Given the description of an element on the screen output the (x, y) to click on. 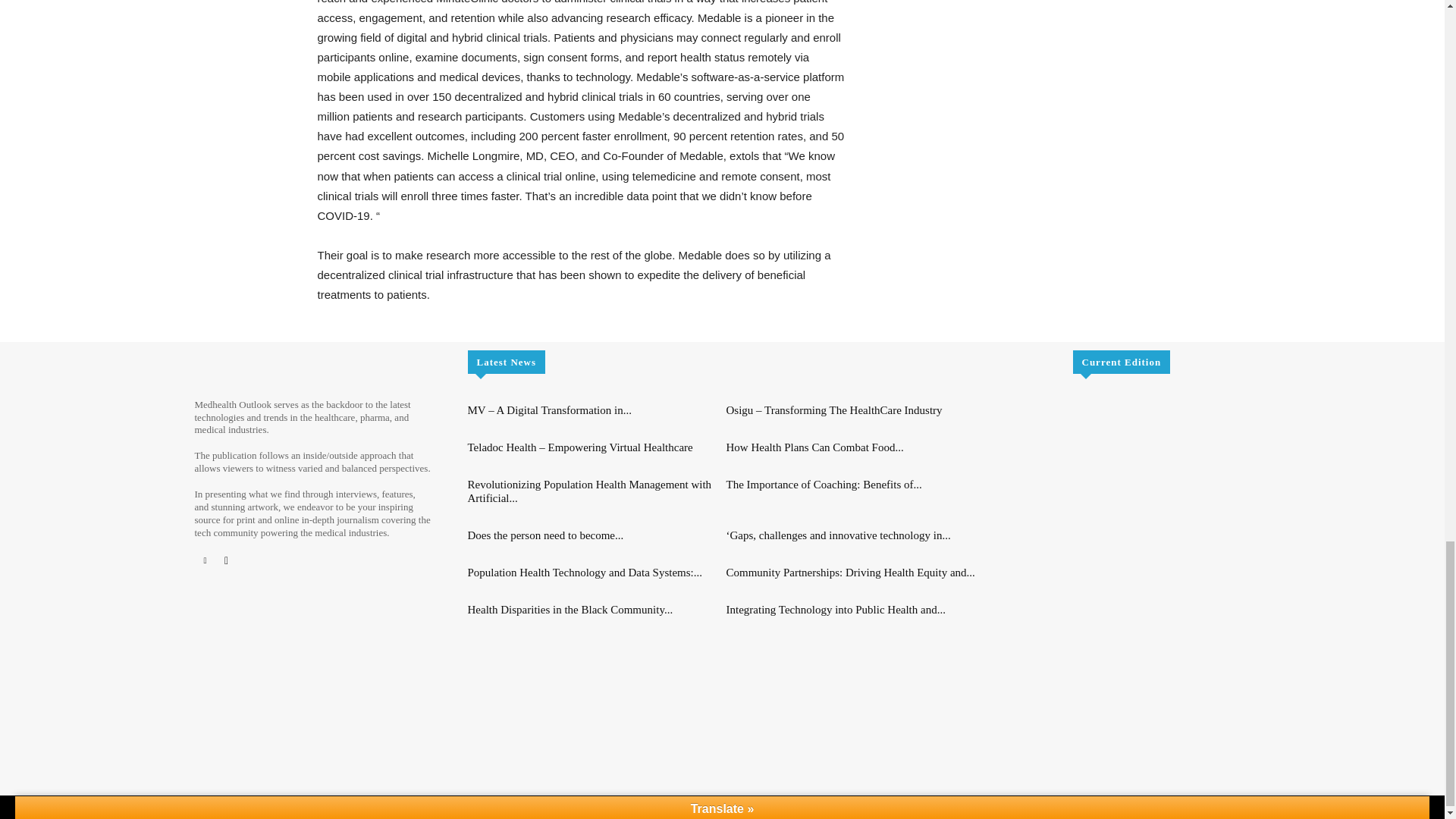
Twitter (225, 559)
Linkedin (204, 559)
